Given the description of an element on the screen output the (x, y) to click on. 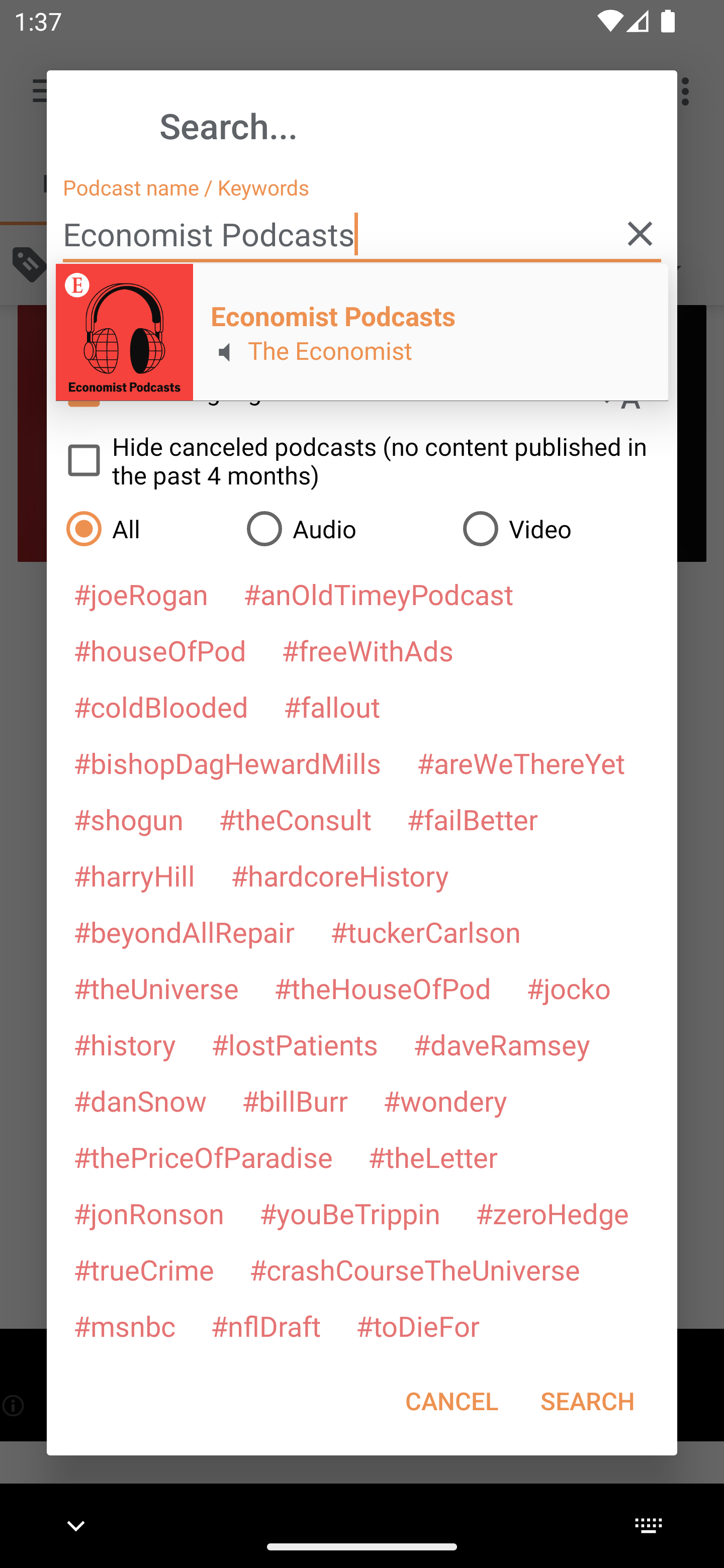
Economist Podcasts (361, 234)
All (145, 528)
Audio (344, 528)
Video (560, 528)
#joeRogan (140, 594)
#anOldTimeyPodcast (378, 594)
#houseOfPod (159, 650)
#freeWithAds (367, 650)
#coldBlooded (160, 705)
#fallout (331, 705)
#bishopDagHewardMills (227, 762)
#areWeThereYet (521, 762)
#shogun (128, 818)
#theConsult (294, 818)
#failBetter (471, 818)
#harryHill (134, 875)
#hardcoreHistory (339, 875)
#beyondAllRepair (184, 931)
#tuckerCarlson (425, 931)
#theUniverse (155, 987)
#theHouseOfPod (381, 987)
#jocko (568, 987)
#history (124, 1044)
#lostPatients (294, 1044)
#daveRamsey (501, 1044)
#danSnow (139, 1100)
#billBurr (294, 1100)
#wondery (444, 1100)
#thePriceOfParadise (203, 1157)
#theLetter (432, 1157)
#jonRonson (148, 1213)
#youBeTrippin (349, 1213)
#zeroHedge (552, 1213)
#trueCrime (143, 1268)
#crashCourseTheUniverse (414, 1268)
#msnbc (124, 1325)
#nflDraft (265, 1325)
#toDieFor (417, 1325)
CANCEL (451, 1400)
SEARCH (587, 1400)
